Given the description of an element on the screen output the (x, y) to click on. 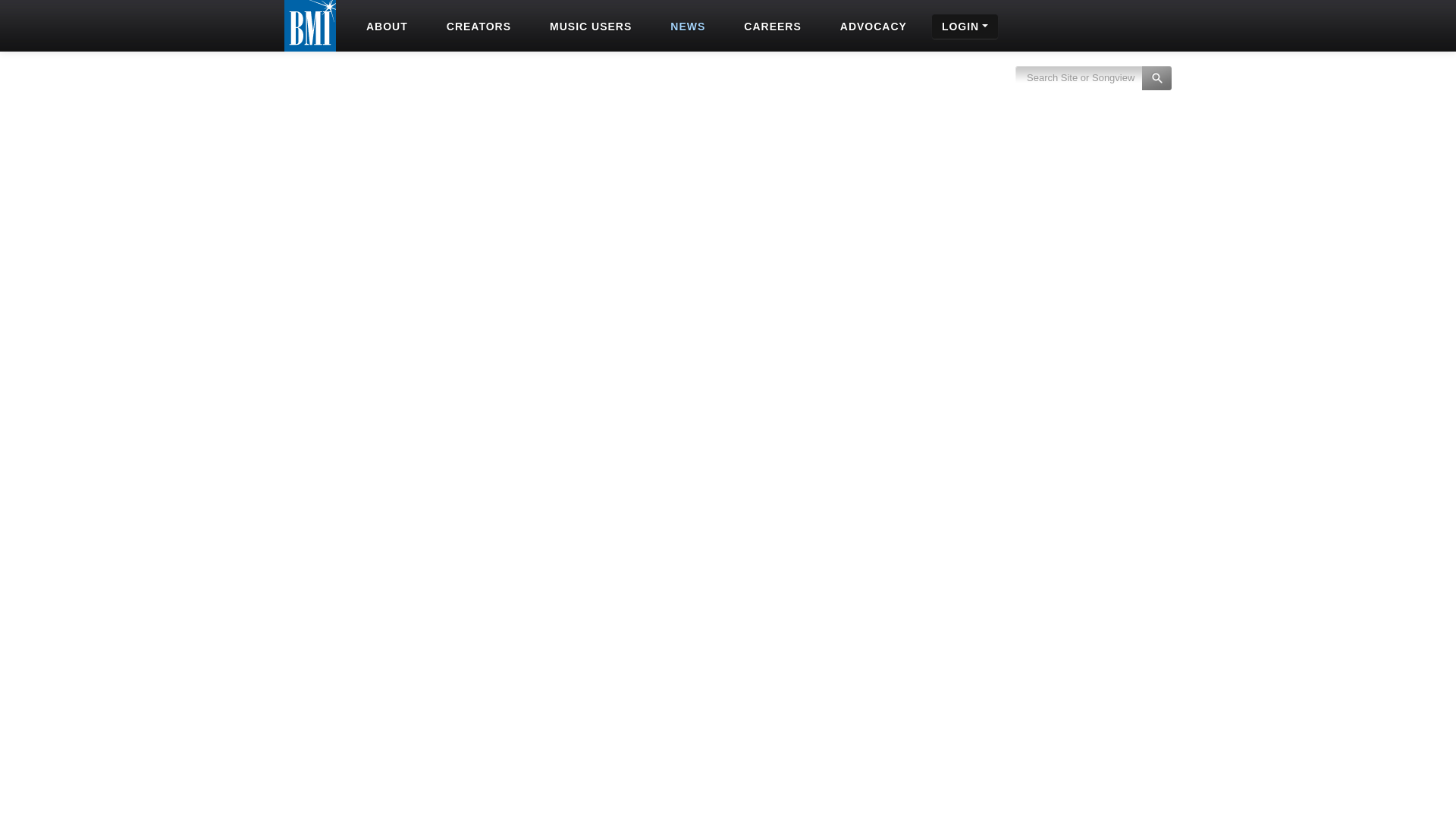
clear results (1093, 87)
NEWS (685, 25)
MUSIC USERS (587, 25)
CAREERS (770, 25)
CREATORS (477, 25)
ABOUT (385, 25)
ADVOCACY (871, 25)
